Given the description of an element on the screen output the (x, y) to click on. 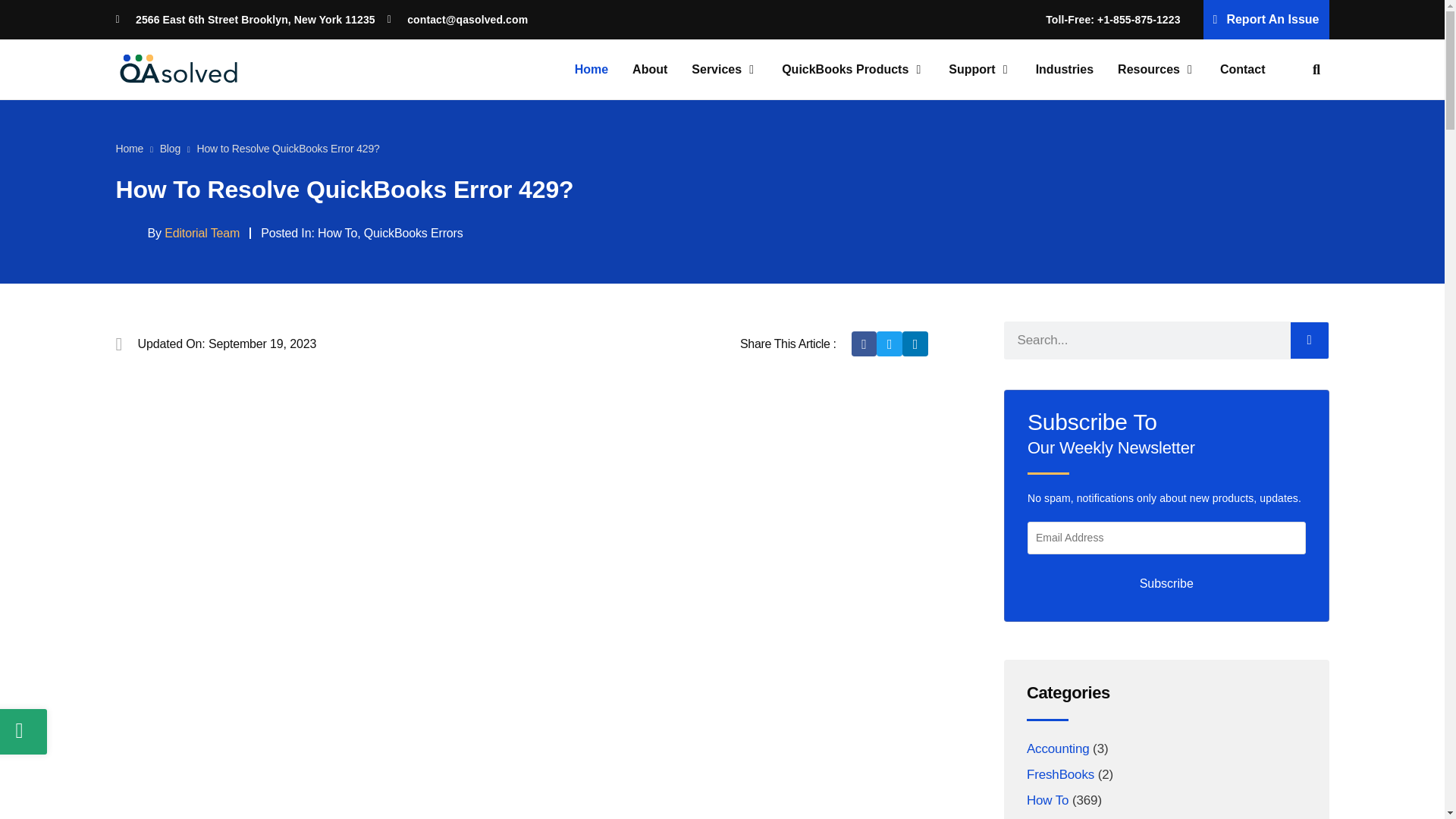
About (648, 69)
QuickBooks Products (844, 69)
Industries (1064, 69)
Subscribe (1166, 583)
Report An Issue (1266, 19)
Home (591, 69)
Contact (1242, 69)
Services (716, 69)
